Given the description of an element on the screen output the (x, y) to click on. 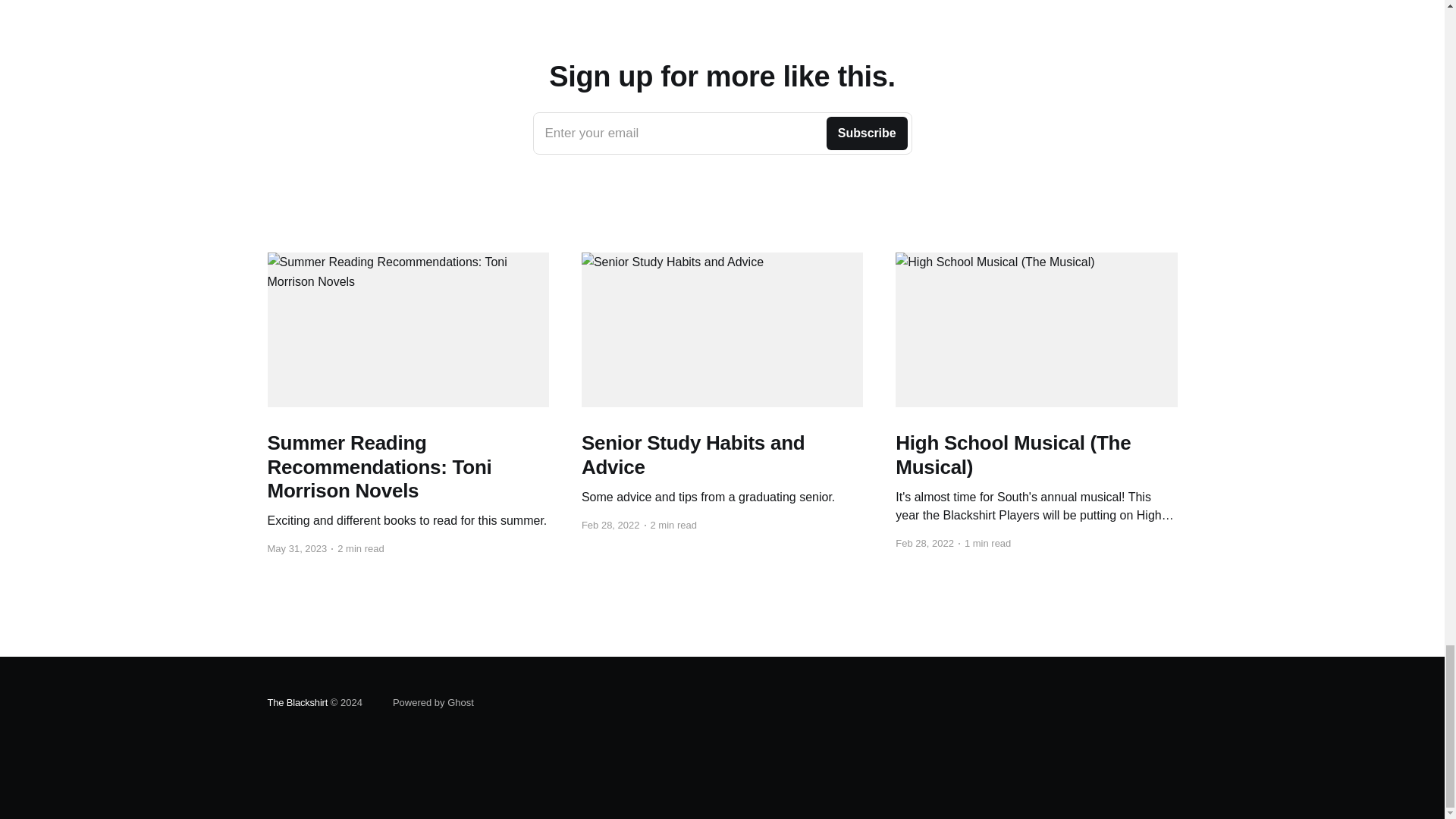
The Blackshirt (296, 702)
Powered by Ghost (721, 133)
